Given the description of an element on the screen output the (x, y) to click on. 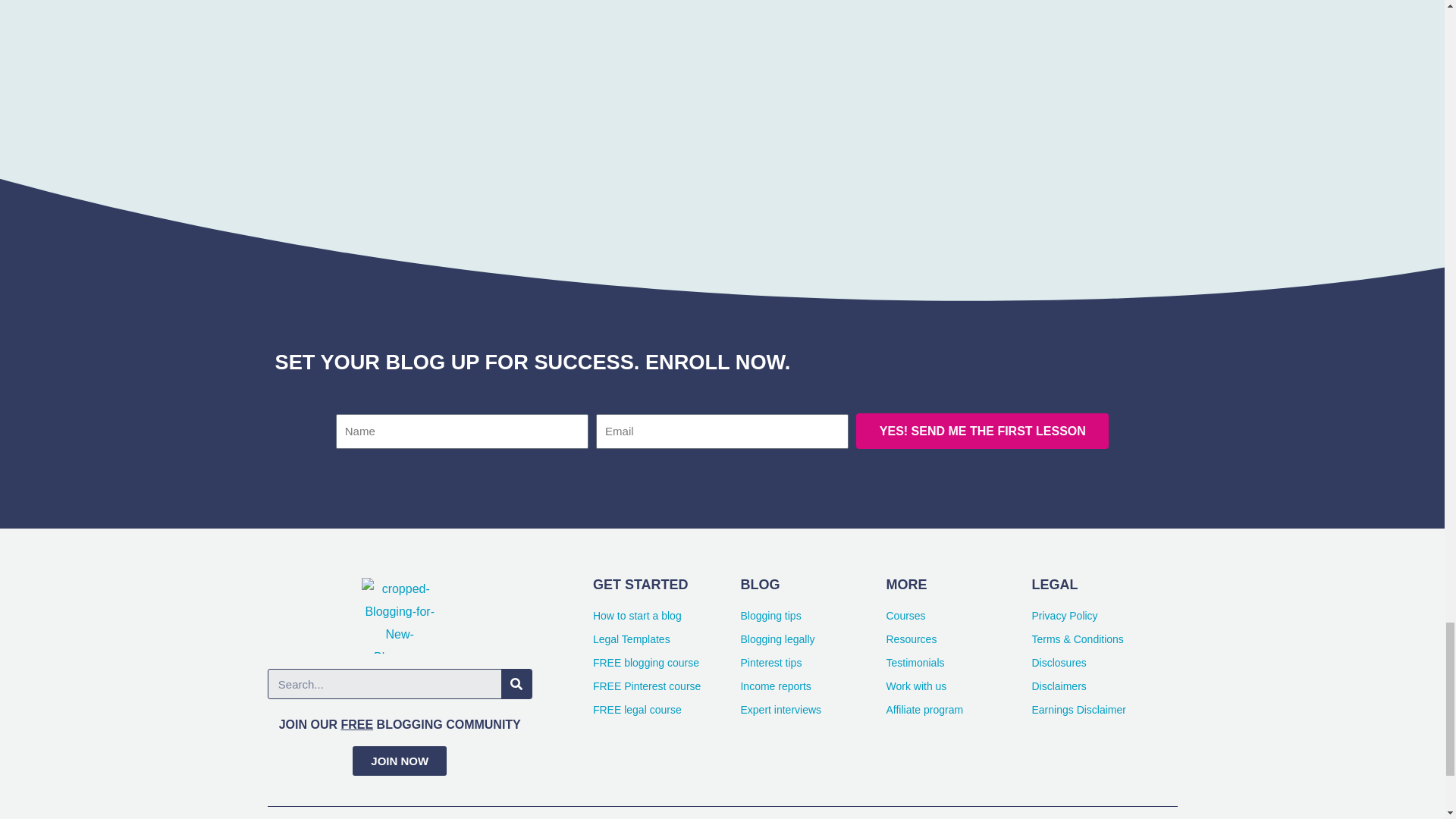
FREE legal course (666, 710)
Blogging for New Bloggers Fast Track Free Course 11 (495, 12)
Privacy Policy (1103, 616)
Income reports (812, 686)
How to start a blog (666, 616)
JOIN NOW (399, 760)
Disclosures (1103, 663)
Courses (957, 616)
Search (515, 683)
Affiliate program (957, 710)
Testimonials (957, 663)
Blogging tips (812, 616)
Blogging for New Bloggers Fast Track Free Course 13 (717, 18)
Blogging for New Bloggers Fast Track Free Course 16 (1095, 17)
cropped-Blogging-for-New-Bloggers-logo-nv.png (399, 615)
